Given the description of an element on the screen output the (x, y) to click on. 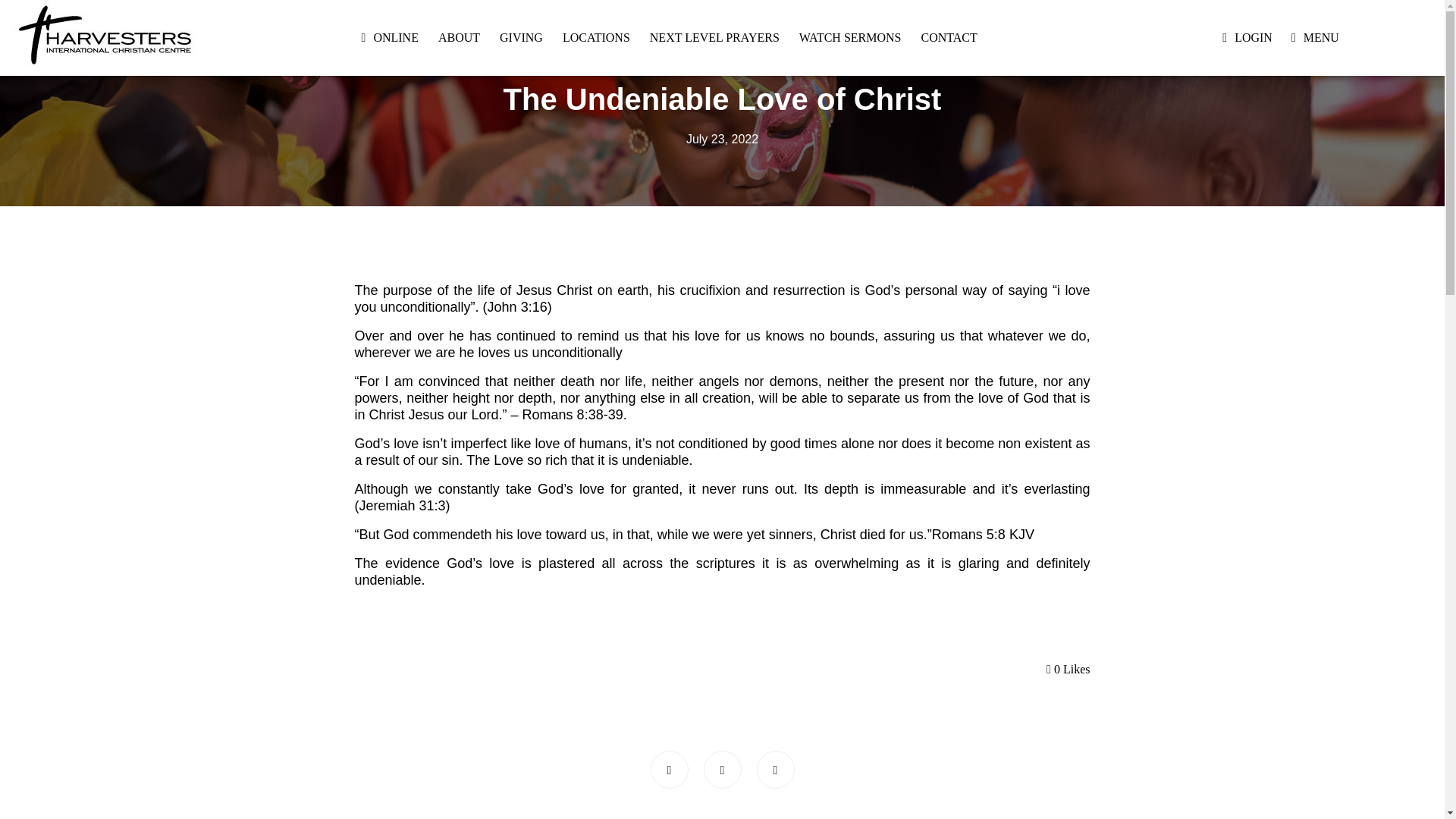
CONTACT (948, 37)
GIVING (521, 37)
ABOUT (459, 37)
WATCH SERMONS (850, 37)
Next Gen (722, 56)
MENU (1321, 37)
NEXT LEVEL PRAYERS (713, 37)
0 Likes (1067, 669)
ONLINE (395, 37)
LOCATIONS (596, 37)
